Given the description of an element on the screen output the (x, y) to click on. 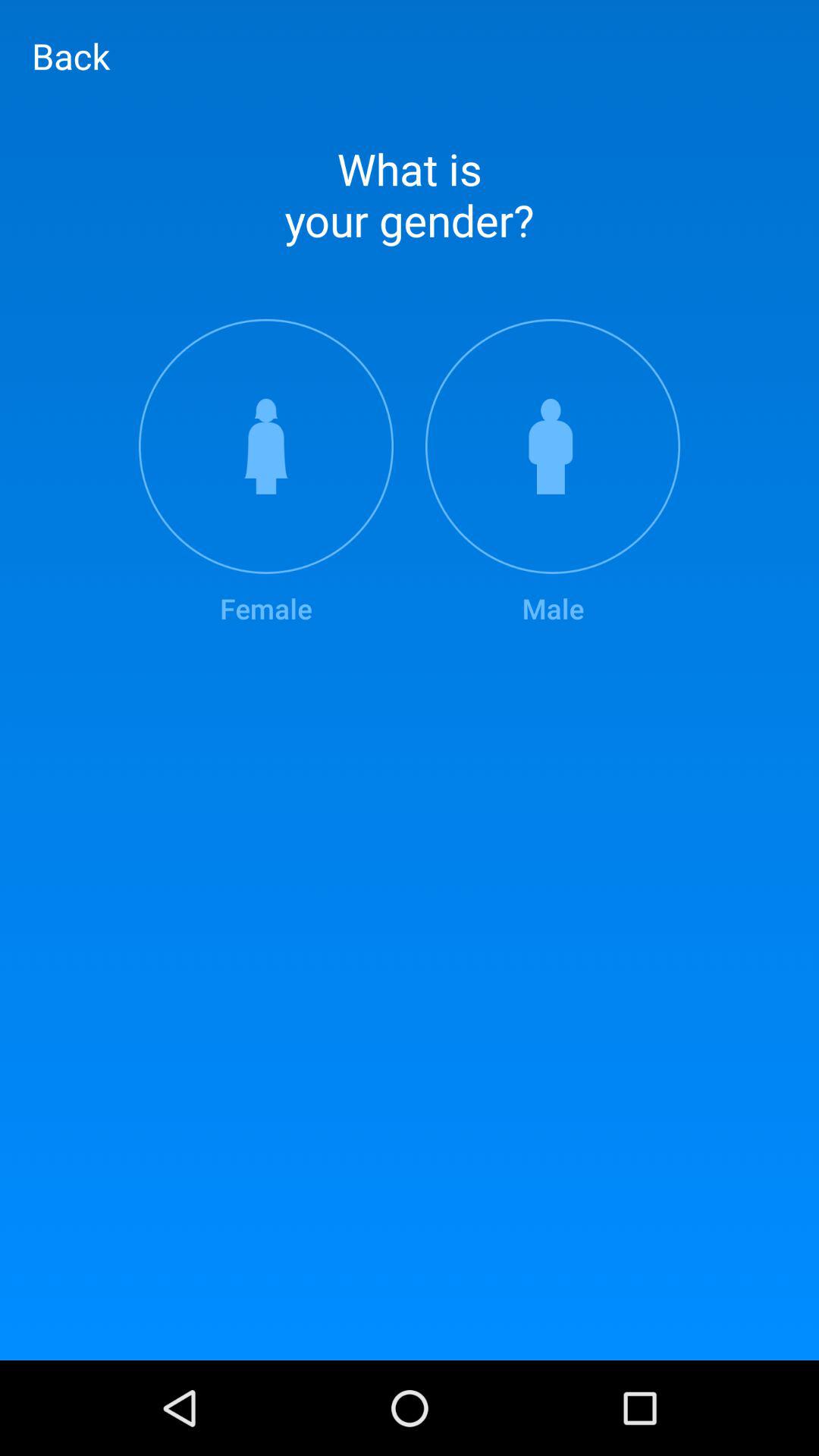
open the female icon (265, 473)
